Given the description of an element on the screen output the (x, y) to click on. 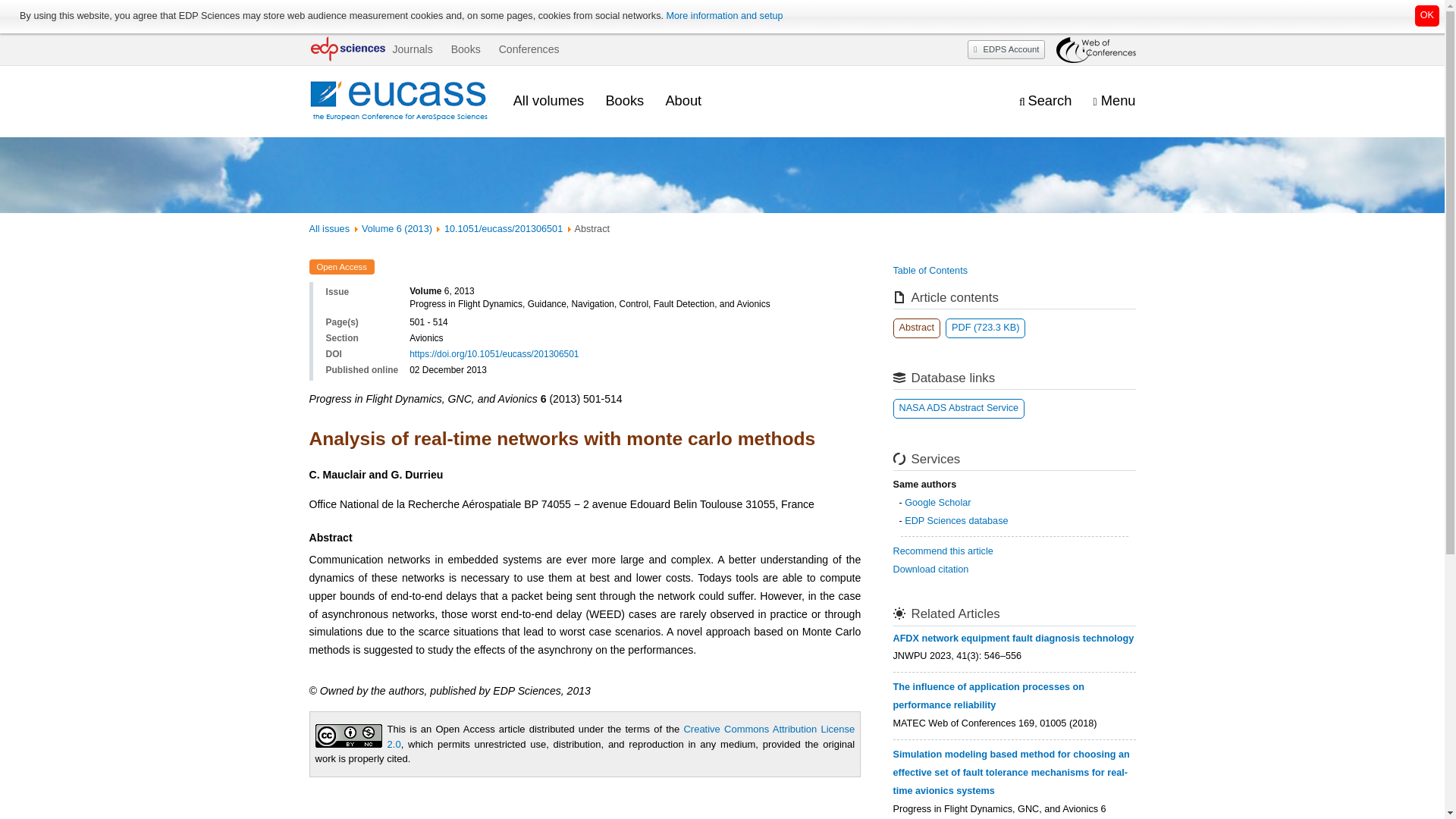
Display the search engine (1045, 101)
All issues (328, 228)
Conferences (529, 49)
Creative Commons Attribution License 2.0 (621, 736)
Books (624, 100)
Journal homepage (400, 101)
Journals (411, 49)
Books (465, 49)
More information and setup (724, 15)
Article abstracts available on the Astrophysics Data System (959, 408)
All volumes (549, 100)
About (683, 100)
Table of Contents (930, 270)
OK (1427, 15)
